Given the description of an element on the screen output the (x, y) to click on. 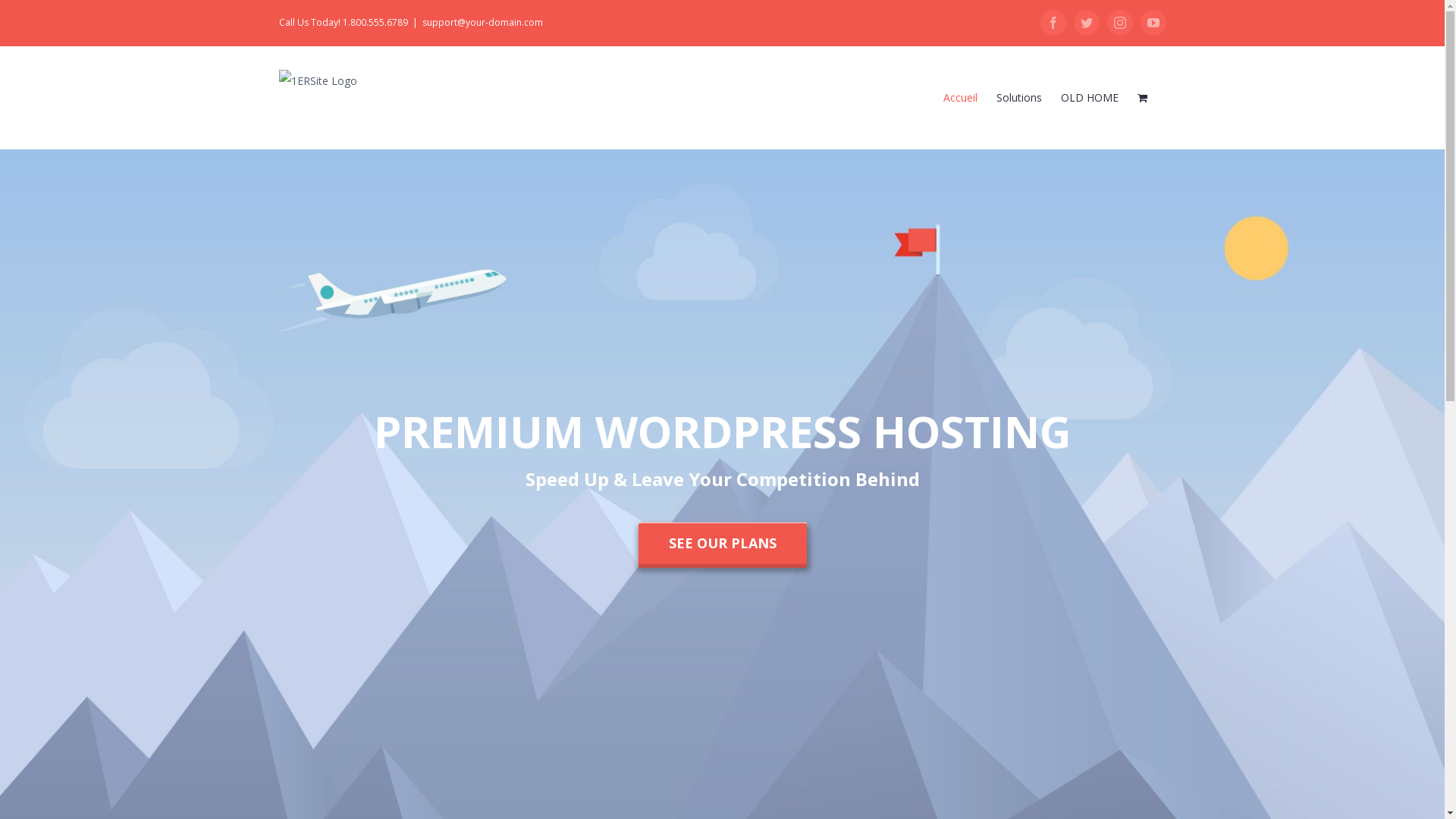
support@your-domain.com Element type: text (481, 21)
OLD HOME Element type: text (1088, 97)
Solutions Element type: text (1018, 97)
Instagram Element type: text (1119, 22)
Twitter Element type: text (1086, 22)
Accueil Element type: text (960, 97)
Facebook Element type: text (1053, 22)
SEE OUR PLANS Element type: text (722, 542)
YouTube Element type: text (1153, 22)
